Given the description of an element on the screen output the (x, y) to click on. 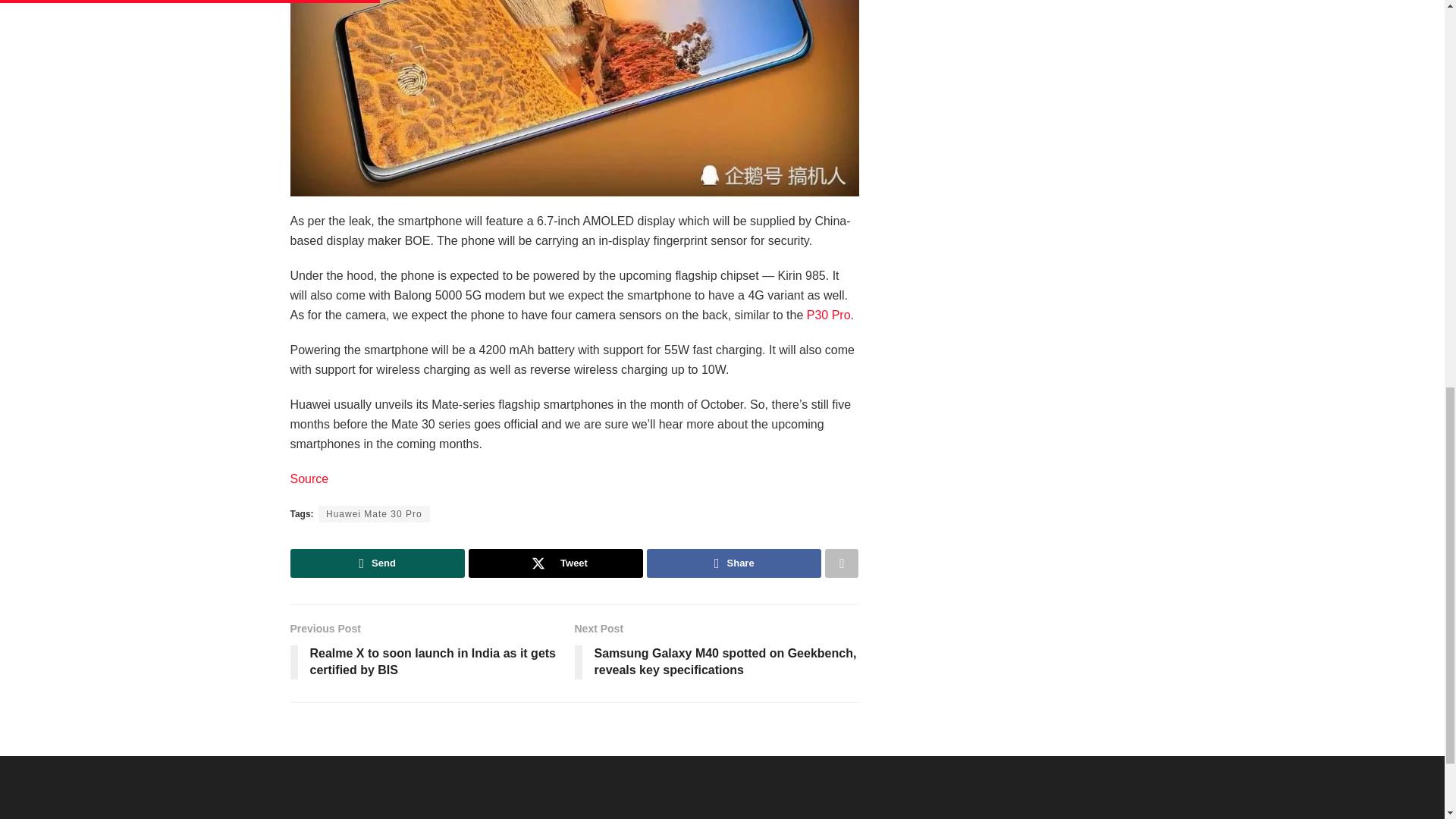
Huawei Mate 30 Pro (373, 514)
Source (309, 478)
Send (376, 563)
P30 Pro (828, 314)
Tweet (555, 563)
Share (733, 563)
